Given the description of an element on the screen output the (x, y) to click on. 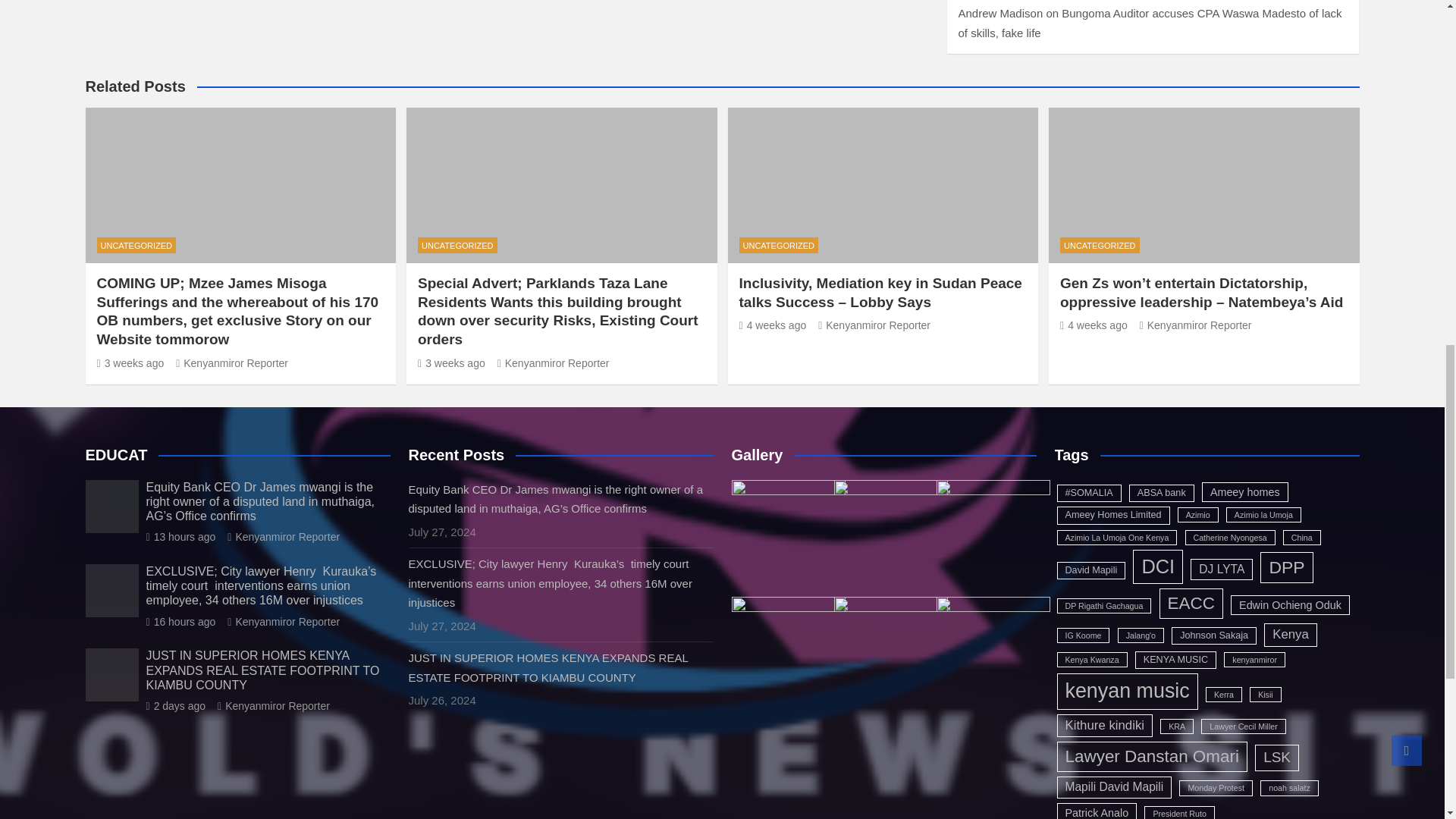
UNCATEGORIZED (457, 245)
3 weeks ago (450, 363)
Kenyanmiror Reporter (553, 363)
Kenyanmiror Reporter (232, 363)
UNCATEGORIZED (136, 245)
3 weeks ago (130, 363)
